Given the description of an element on the screen output the (x, y) to click on. 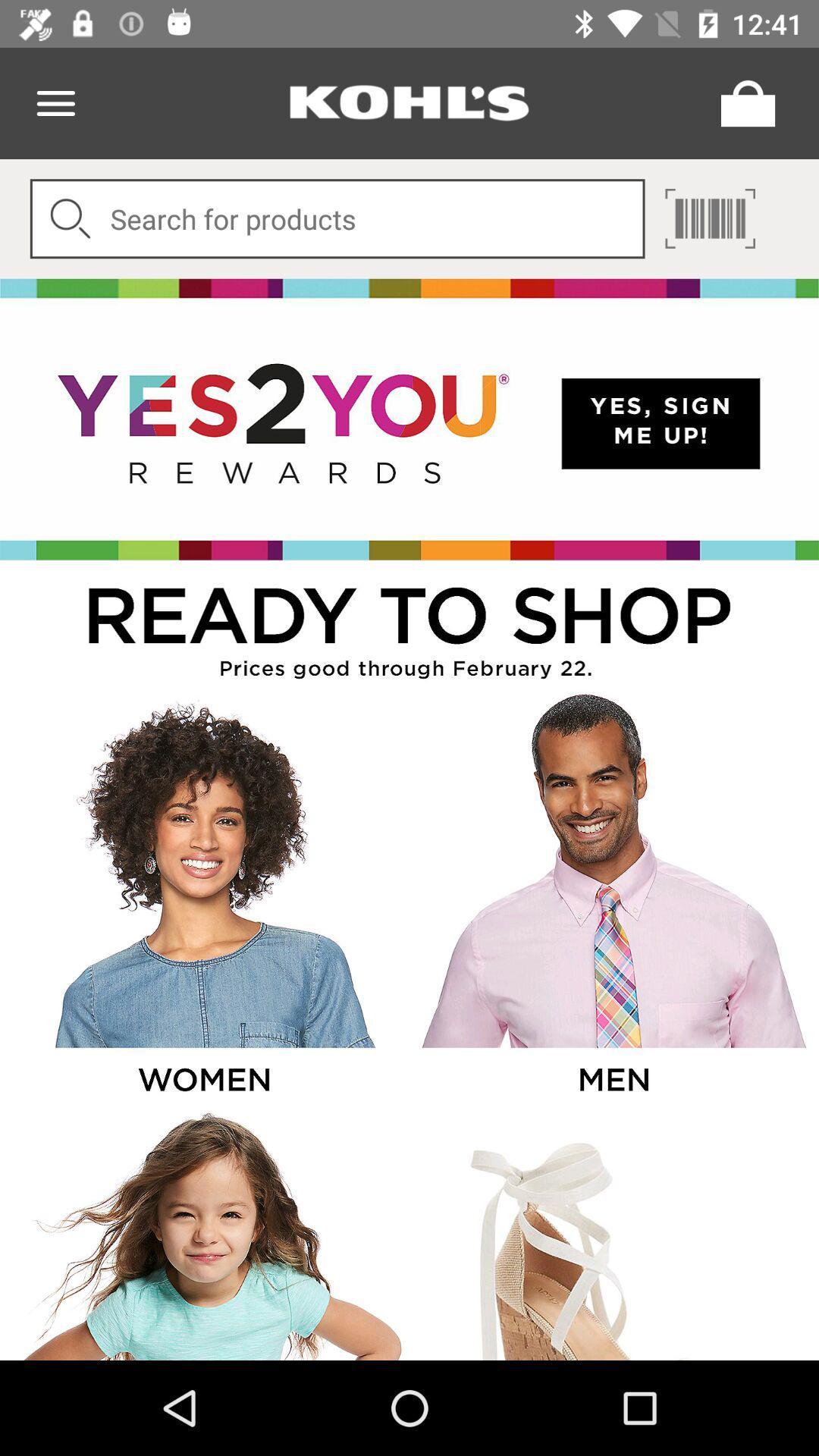
advertisement area (613, 1234)
